Given the description of an element on the screen output the (x, y) to click on. 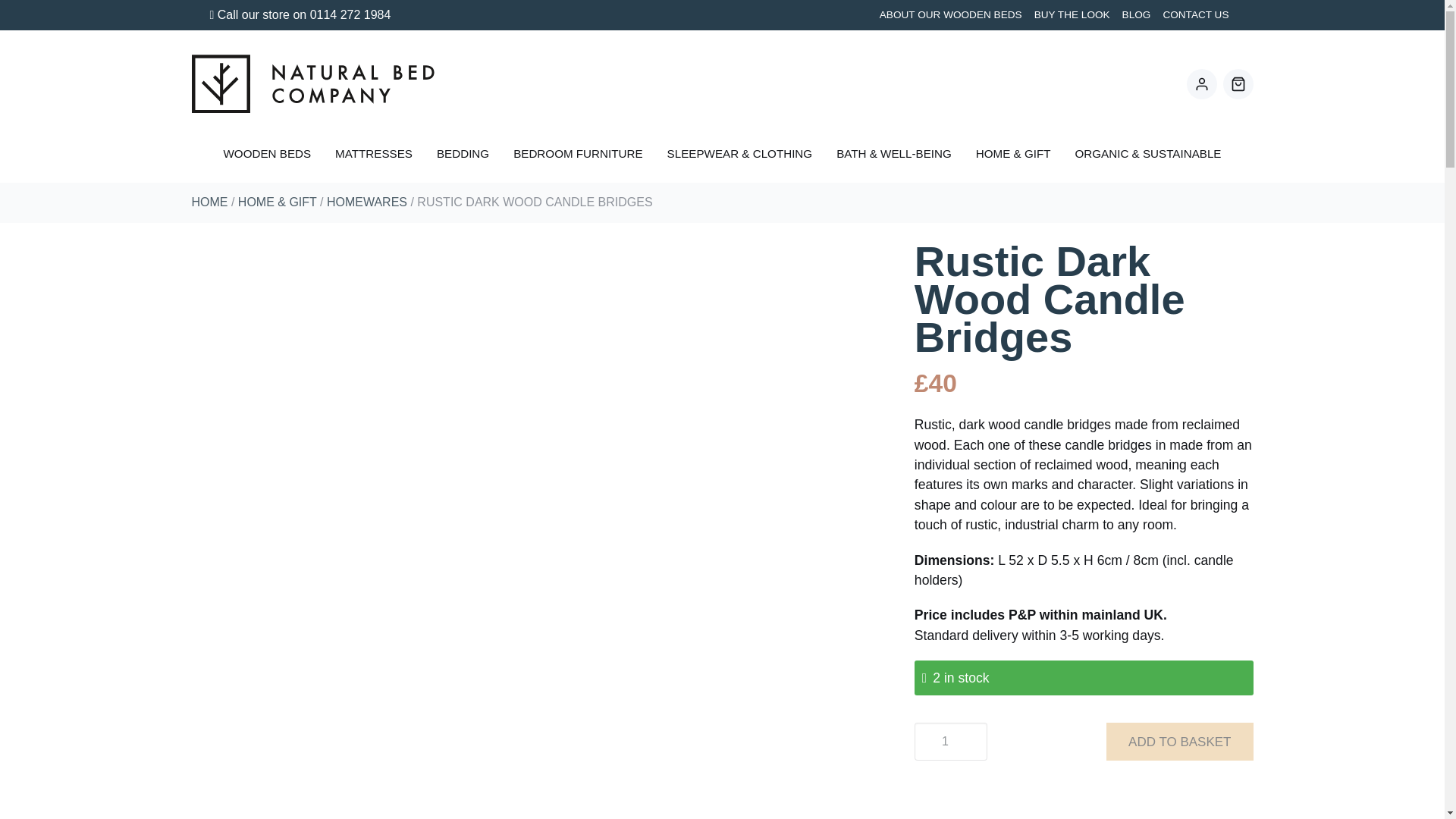
View your shopping cart (1237, 83)
BLOG (1136, 14)
CONTACT US (1195, 14)
1 (950, 741)
My Account (1200, 83)
ABOUT OUR WOODEN BEDS (950, 14)
0114 272 1984 (350, 14)
BUY THE LOOK (1071, 14)
